Given the description of an element on the screen output the (x, y) to click on. 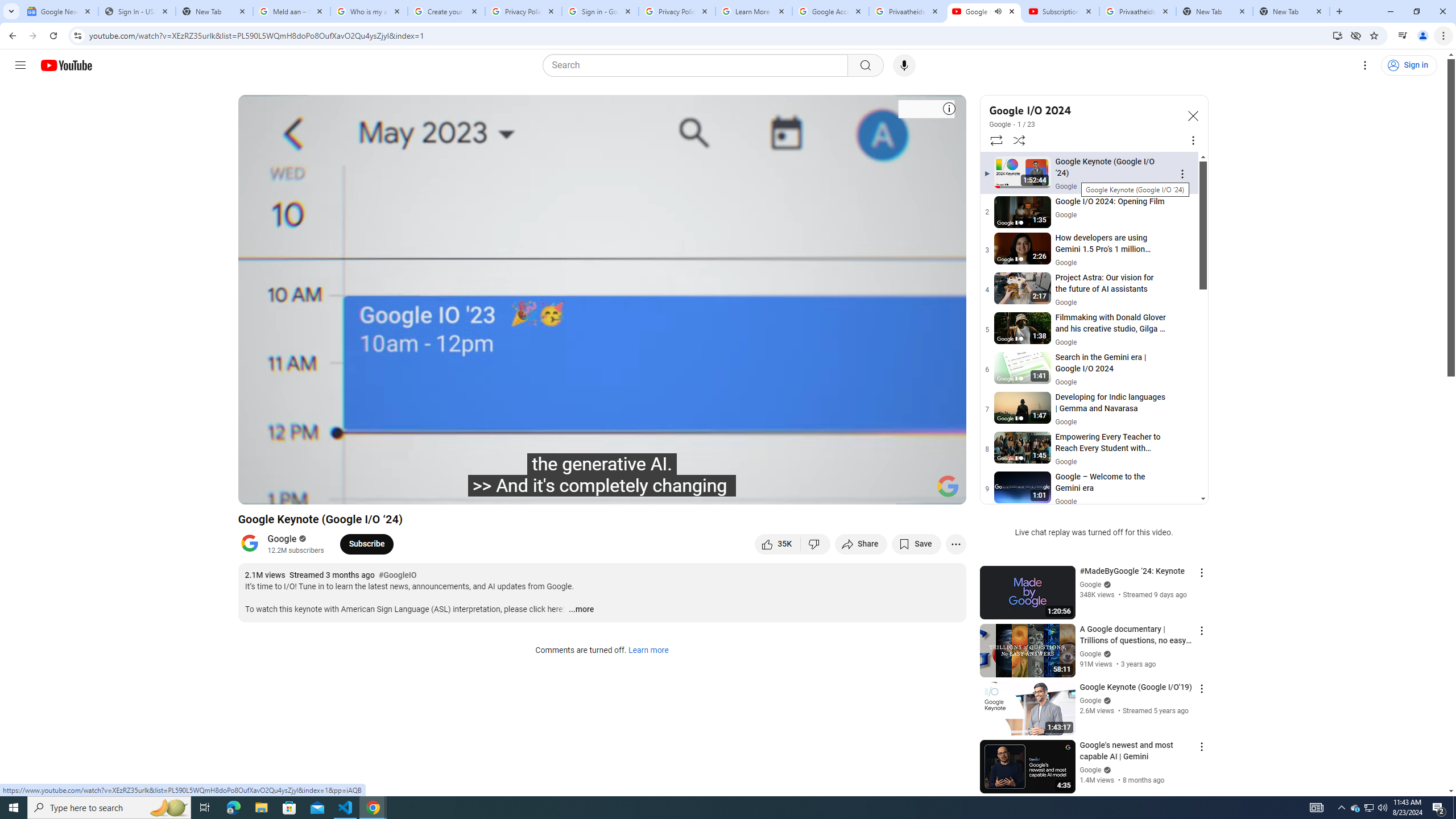
Shuffle playlist (1018, 140)
Loop playlist (995, 140)
Full screen (f) (945, 490)
...more (580, 609)
Share (861, 543)
